Given the description of an element on the screen output the (x, y) to click on. 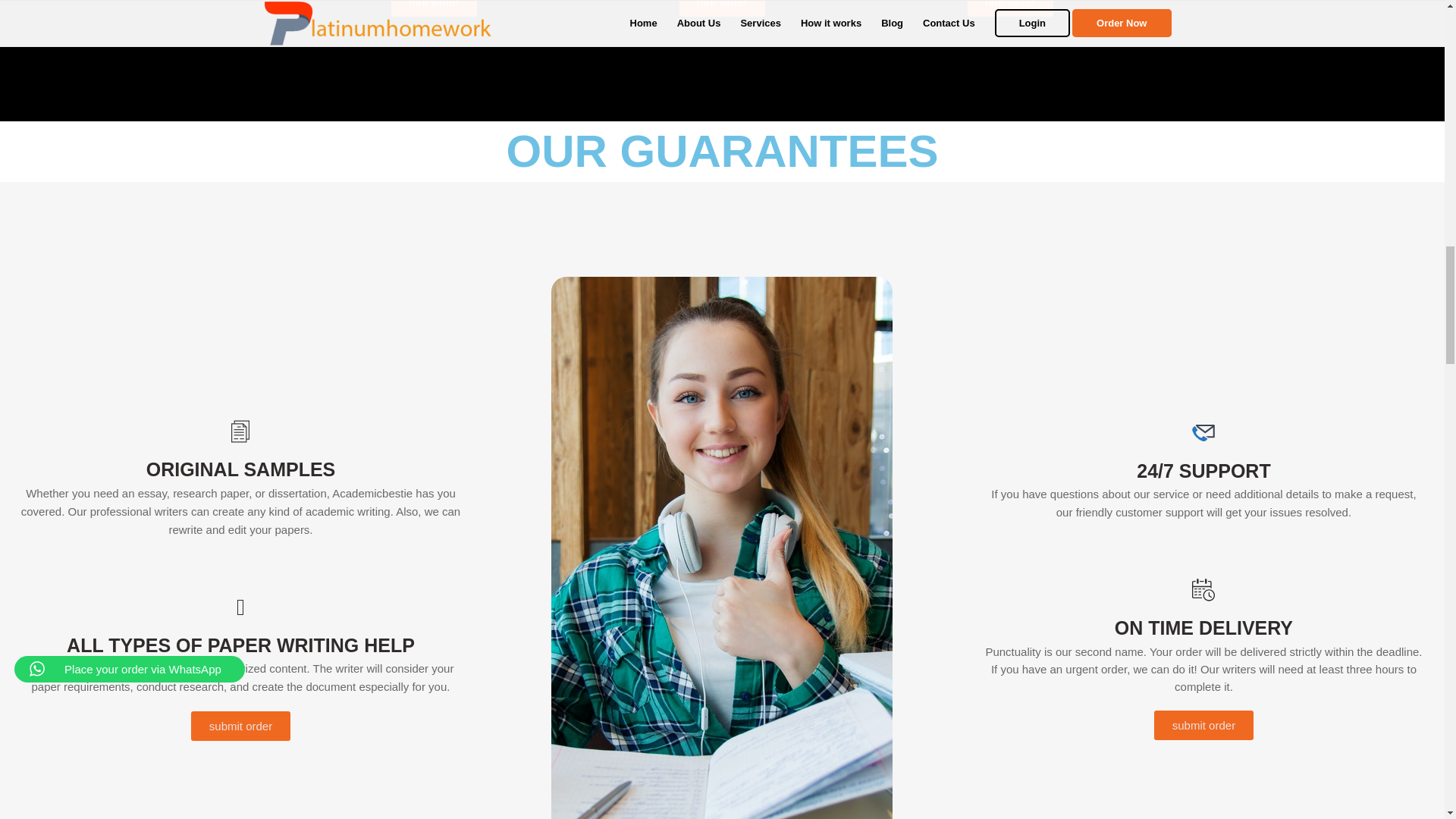
hire writer (1011, 8)
submit order (239, 726)
submit order (1203, 725)
hire writer (722, 8)
hire writer (434, 8)
